Given the description of an element on the screen output the (x, y) to click on. 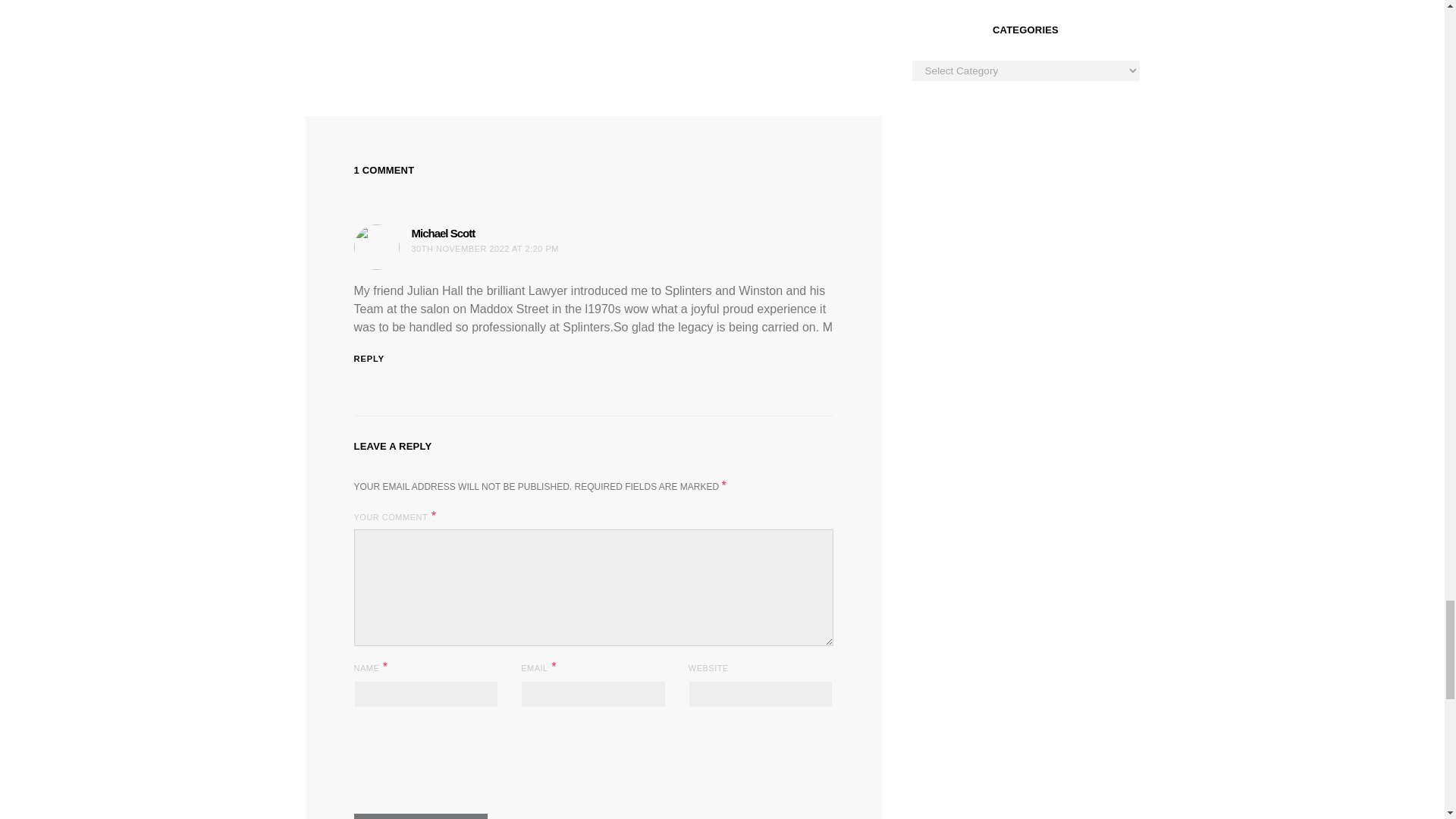
Post Comment (419, 816)
